Given the description of an element on the screen output the (x, y) to click on. 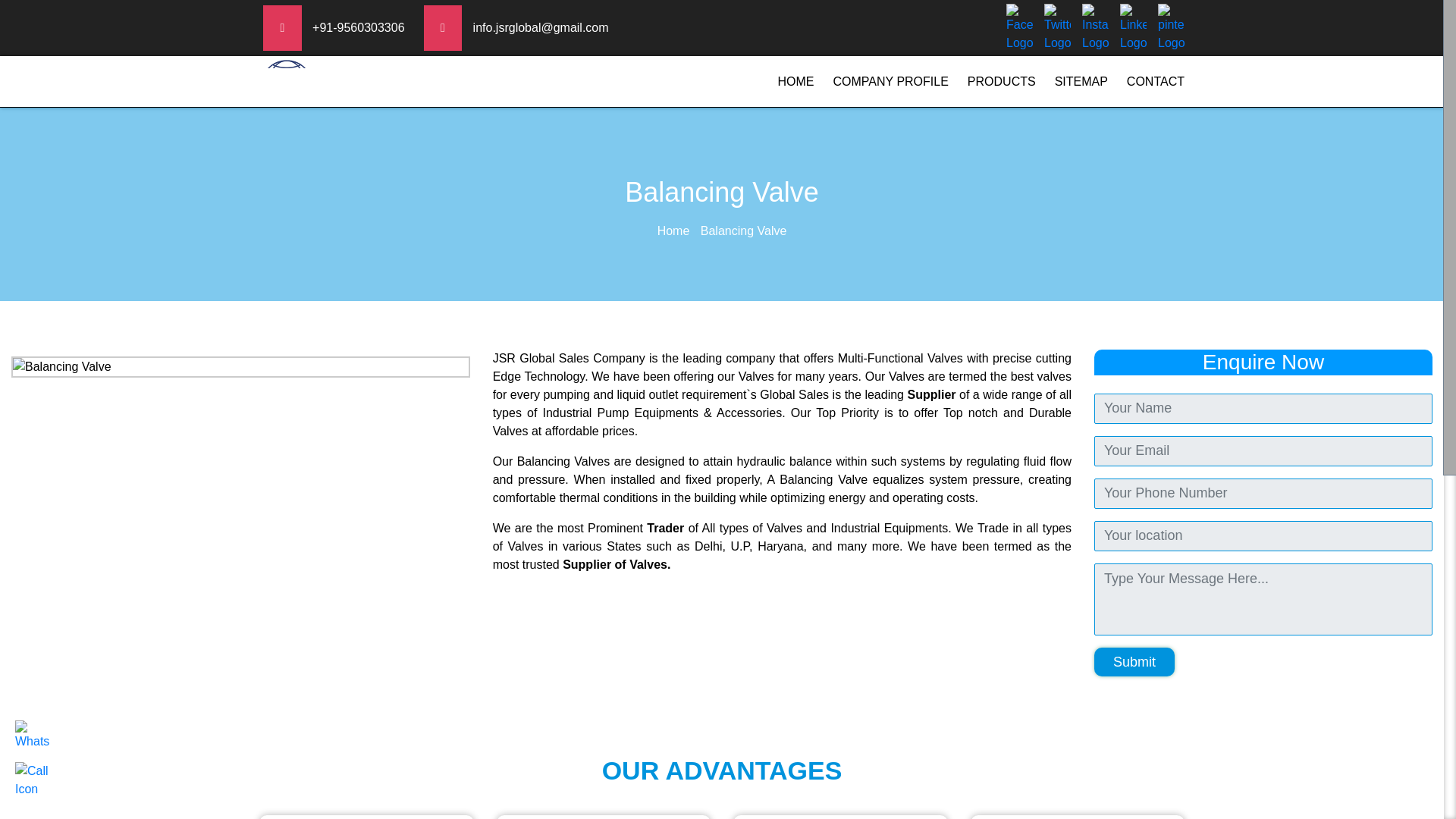
JSR Global Sales (363, 81)
Balancing Valve (240, 366)
HOME (795, 81)
COMPANY PROFILE (890, 81)
Submit (1134, 661)
PRODUCTS (1001, 81)
